Given the description of an element on the screen output the (x, y) to click on. 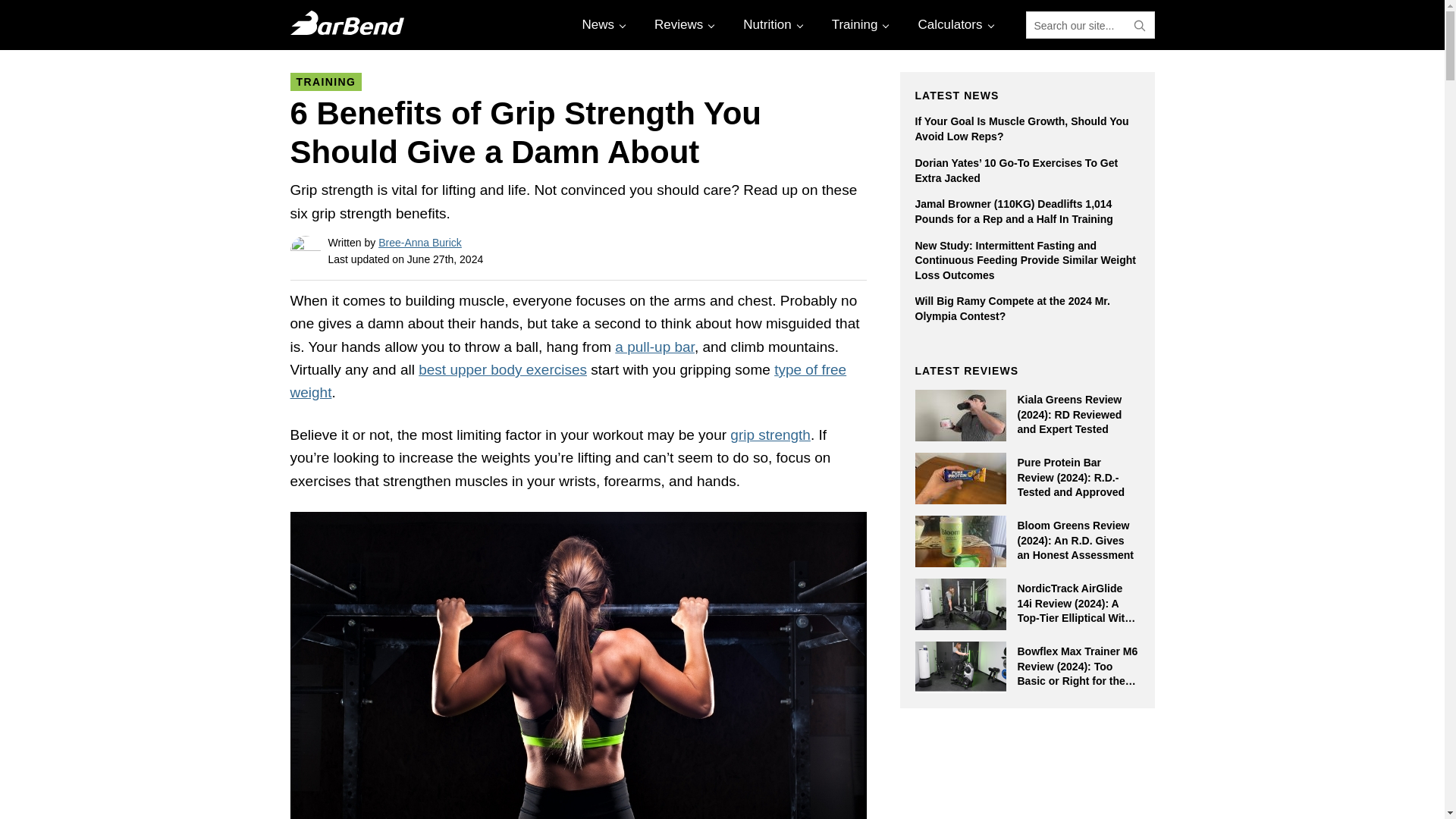
News (602, 24)
Reviews (682, 24)
